Given the description of an element on the screen output the (x, y) to click on. 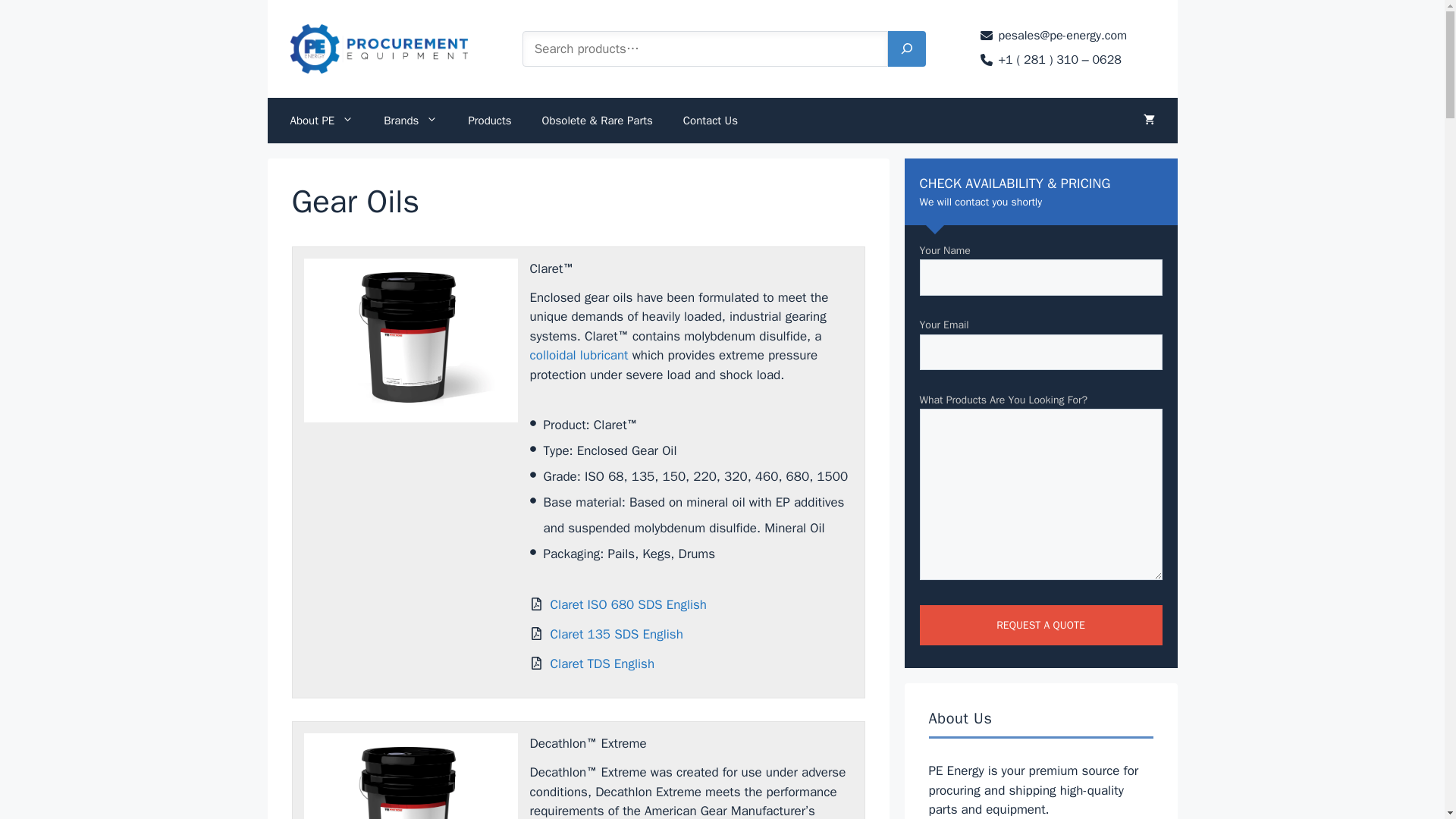
View your shopping cart (1149, 120)
Whitmore Claret Gear Oils (409, 340)
Request A Quote (1039, 625)
Whitmore Decathlon Extreme Gear Oils (409, 776)
